Given the description of an element on the screen output the (x, y) to click on. 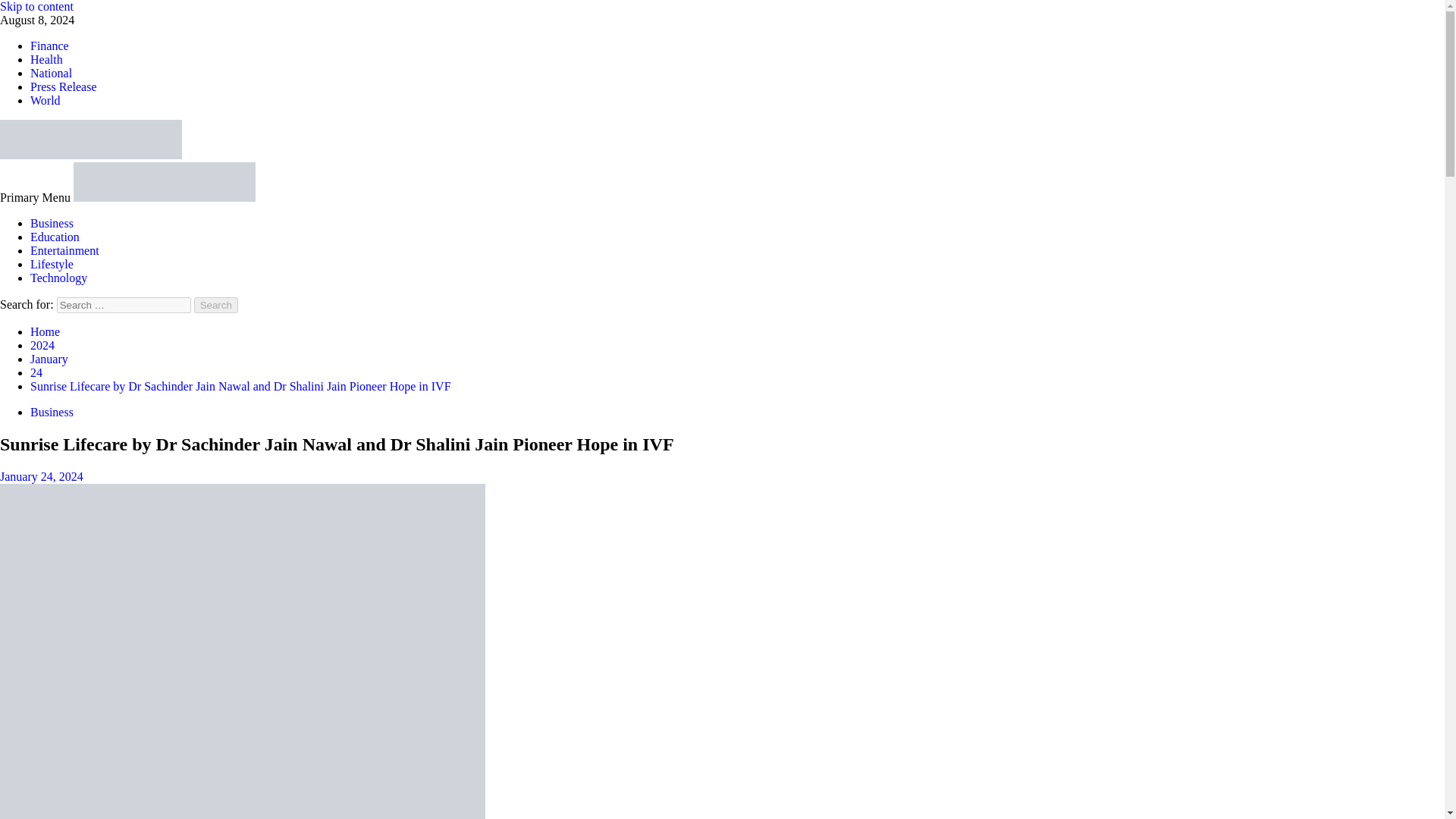
World (45, 100)
Finance (49, 45)
Search (215, 304)
Health (46, 59)
January (49, 358)
National (50, 72)
Education (55, 236)
Skip to content (37, 6)
Business (52, 223)
